Given the description of an element on the screen output the (x, y) to click on. 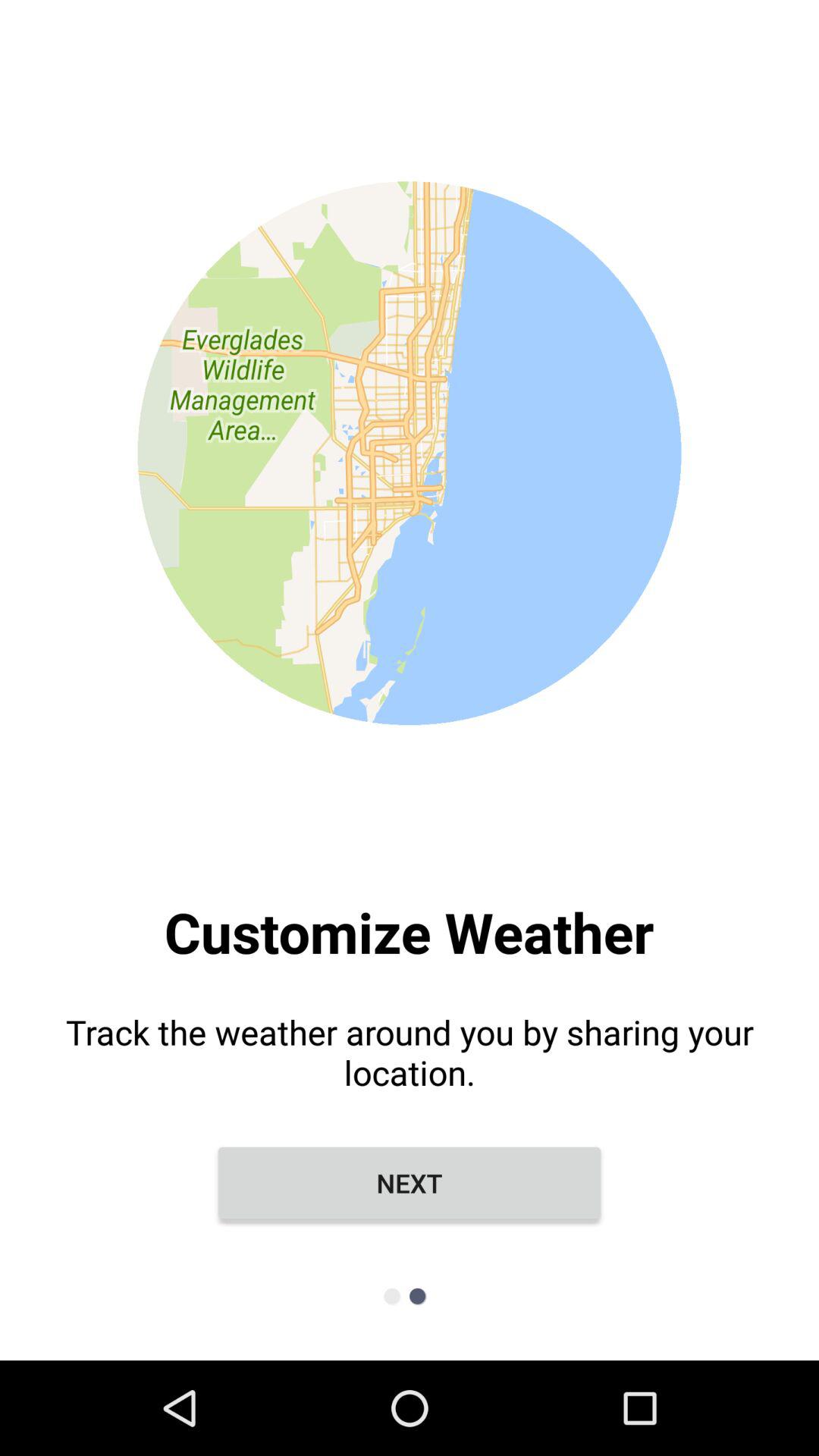
open icon below the track the weather (409, 1182)
